Given the description of an element on the screen output the (x, y) to click on. 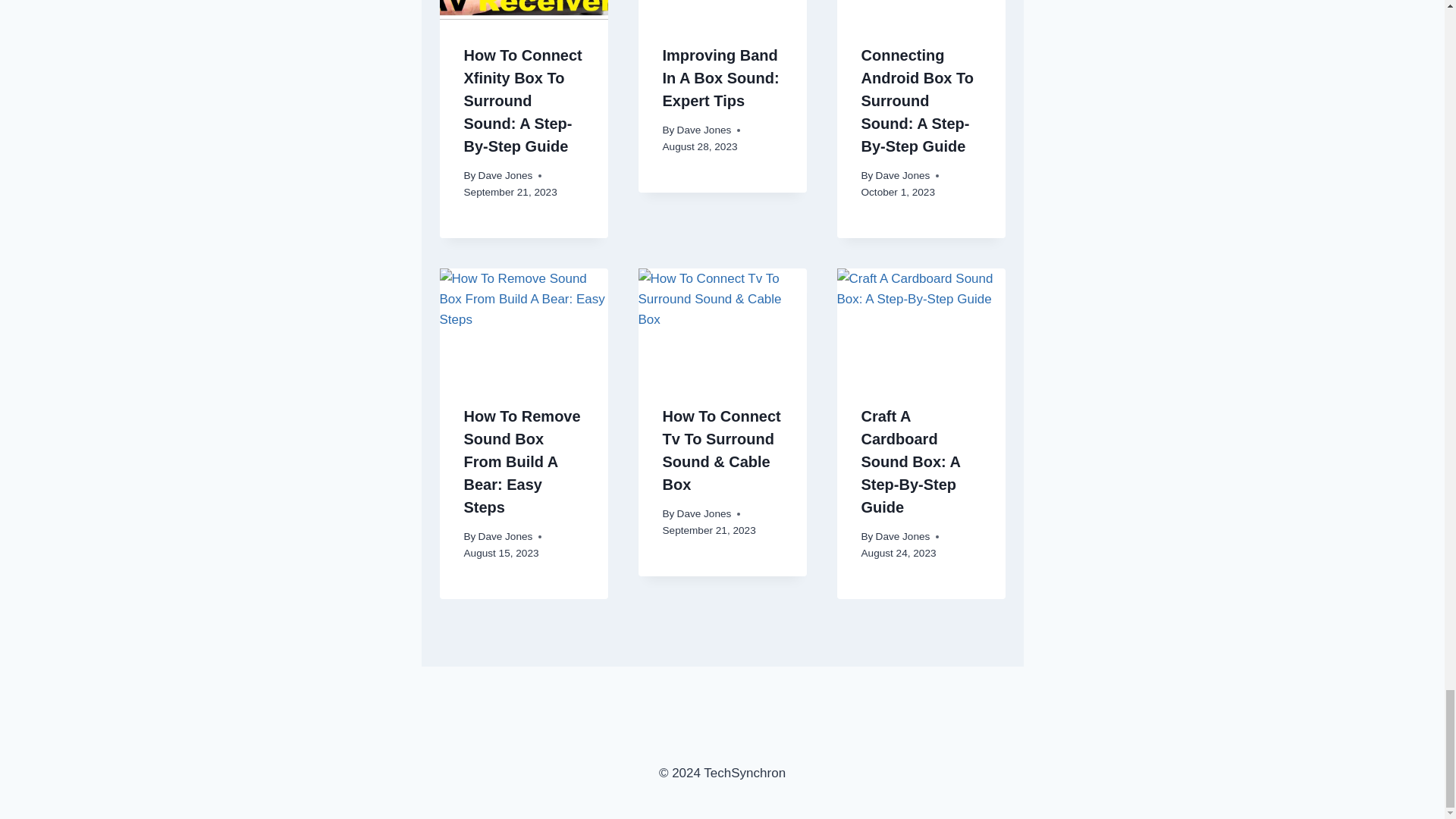
Dave Jones (903, 174)
Dave Jones (704, 513)
Dave Jones (505, 174)
Dave Jones (704, 129)
Improving Band In A Box Sound: Expert Tips (720, 77)
Dave Jones (505, 536)
How To Remove Sound Box From Build A Bear: Easy Steps (522, 461)
